Given the description of an element on the screen output the (x, y) to click on. 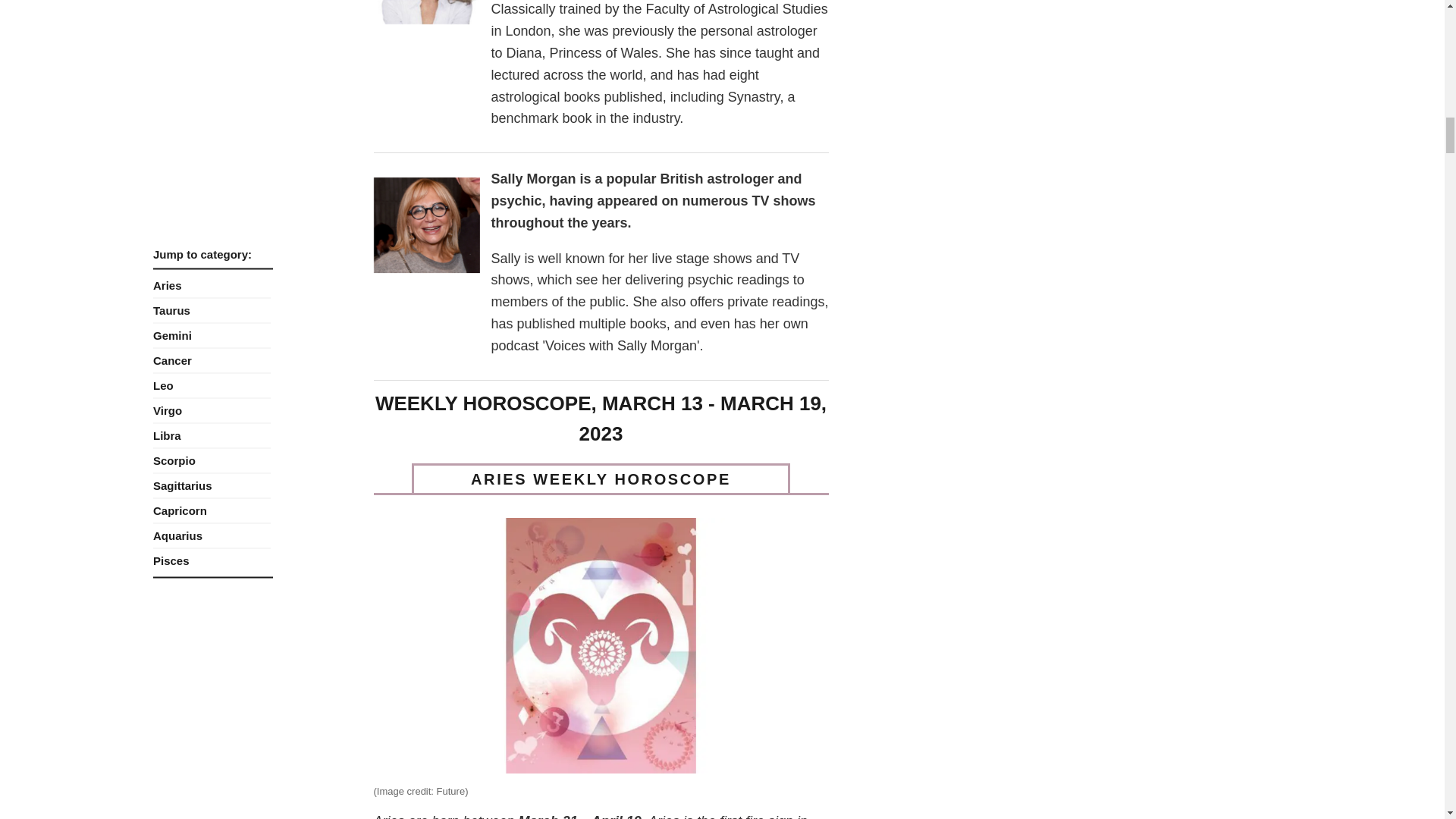
Image (425, 224)
Image (425, 16)
